Given the description of an element on the screen output the (x, y) to click on. 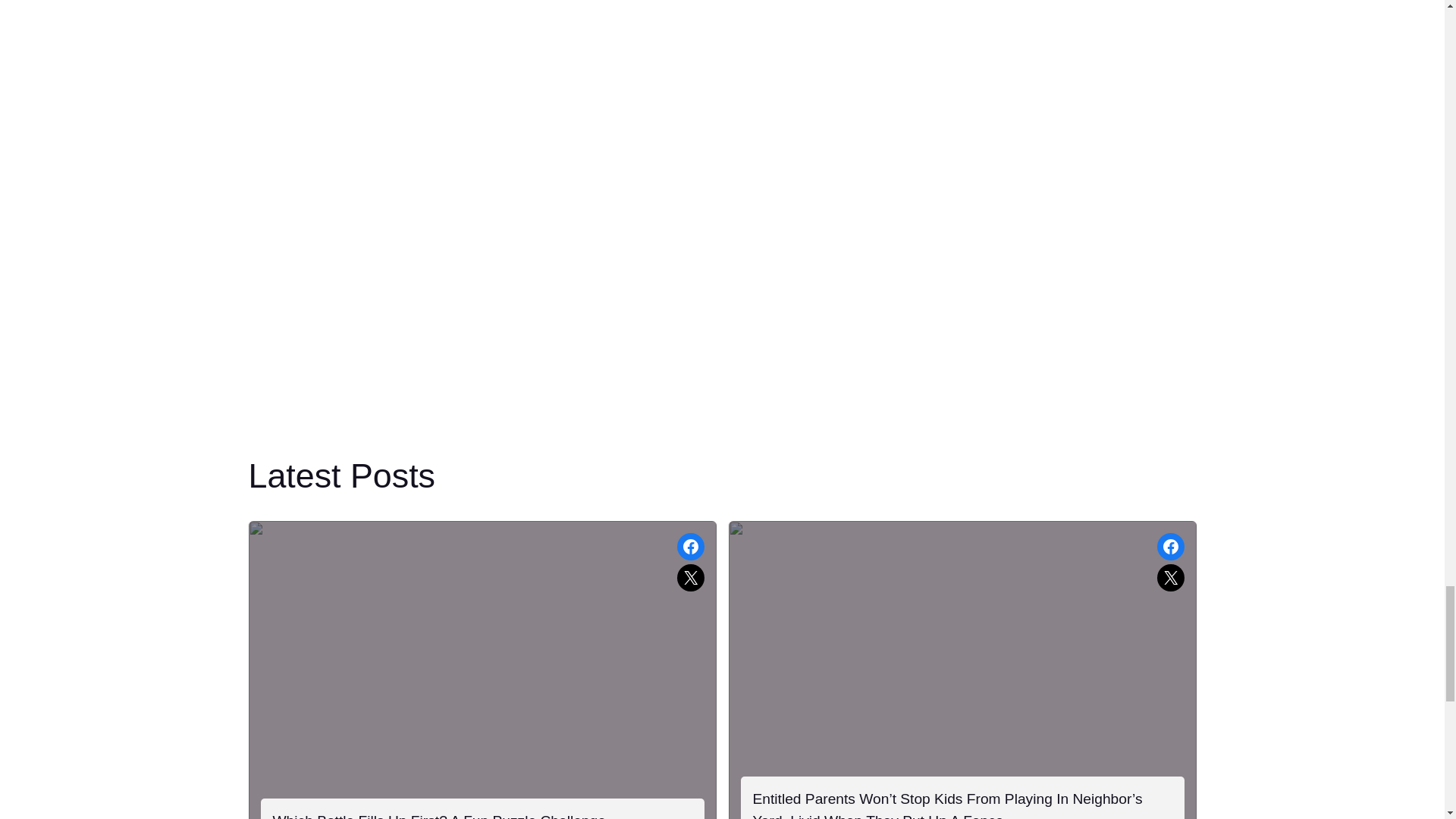
X (1171, 577)
Which Bottle Fills Up First? A Fun Puzzle Challenge (439, 814)
Facebook (1171, 546)
Facebook (690, 546)
X (690, 577)
